Given the description of an element on the screen output the (x, y) to click on. 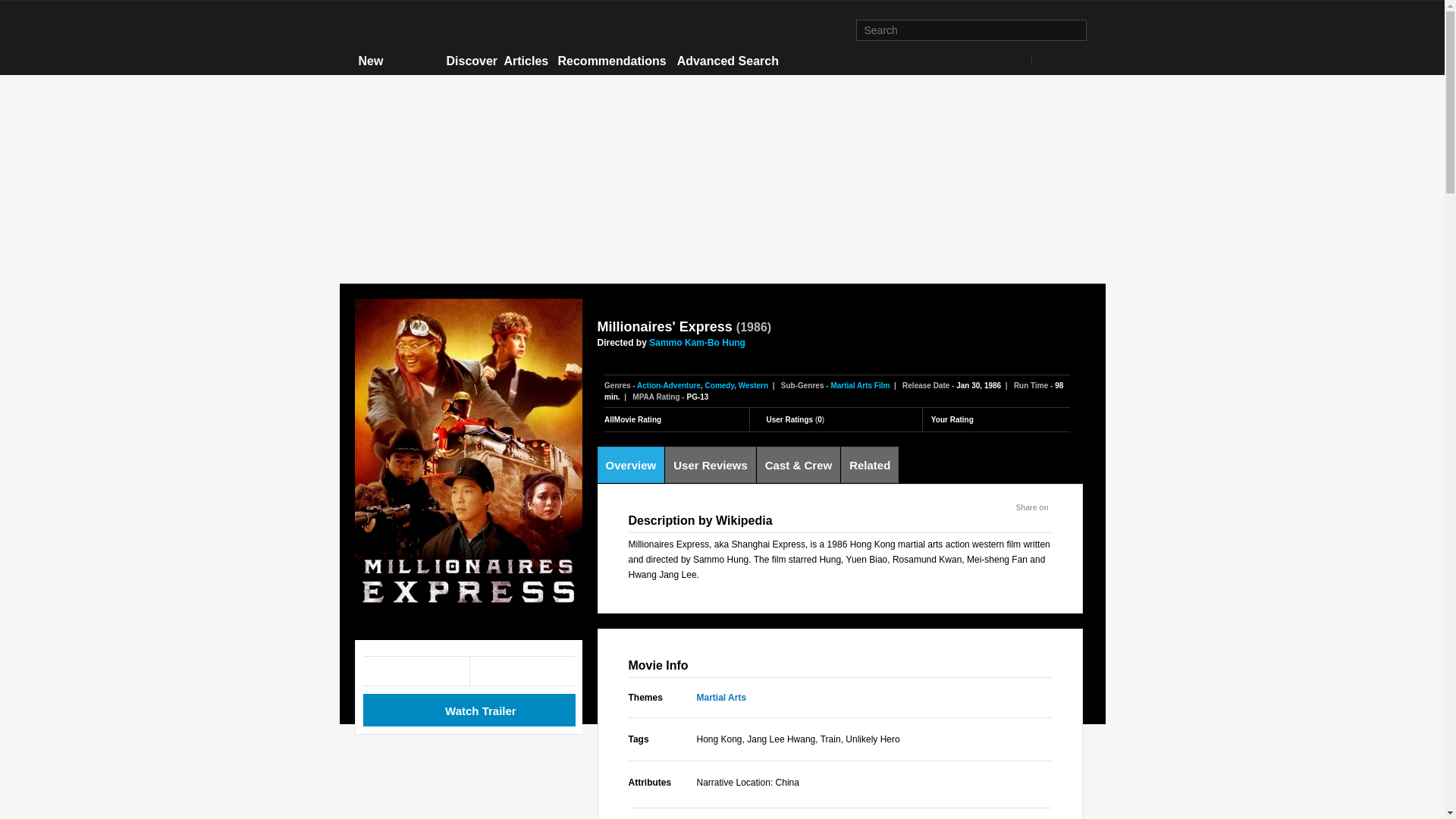
AllMovie (418, 28)
AllMovie (418, 28)
Discover (470, 61)
Discover (470, 61)
New Releases (396, 70)
New Releases (396, 70)
